Given the description of an element on the screen output the (x, y) to click on. 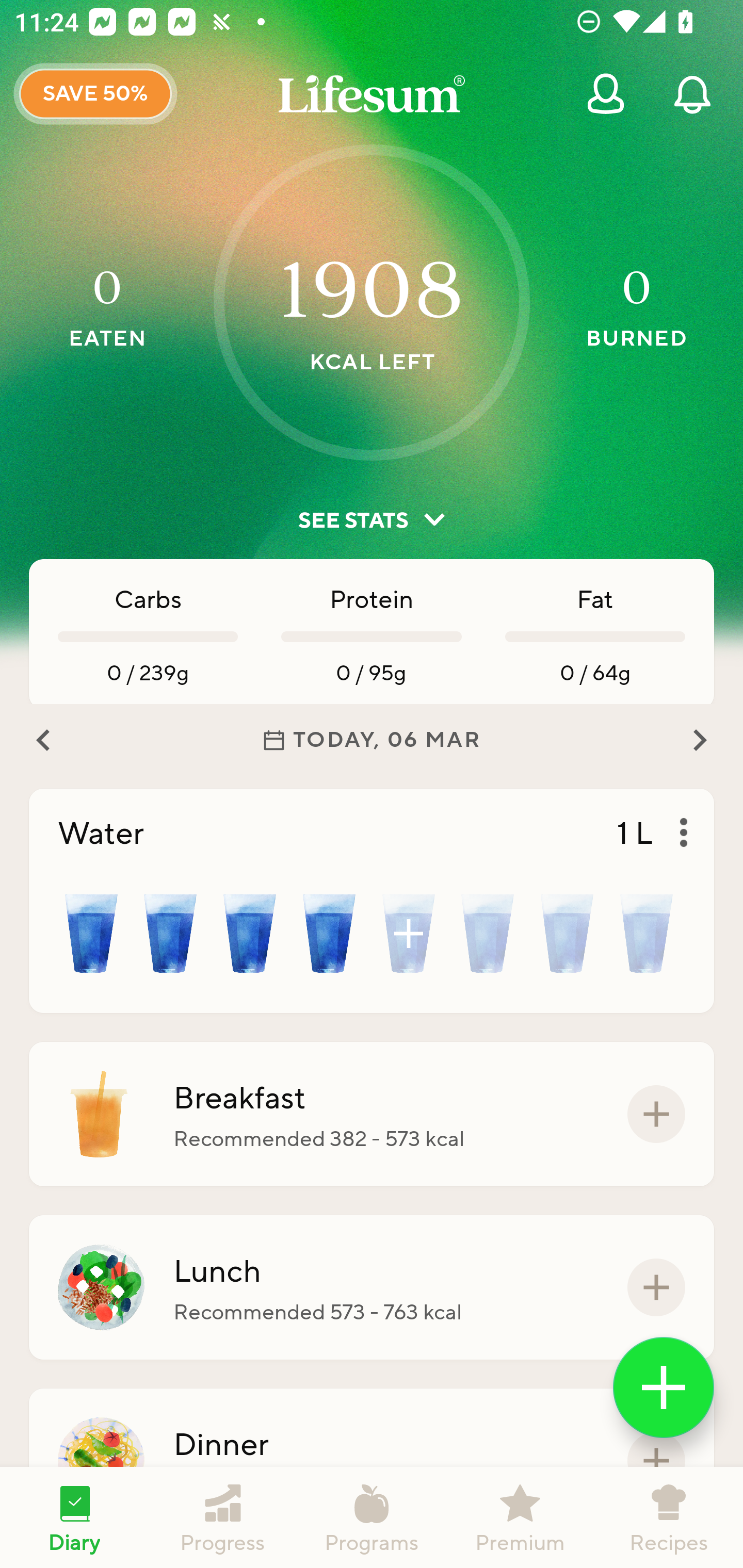
SEE STATS (371, 519)
TODAY, 06 MAR (371, 739)
Breakfast Recommended 382 - 573 kcal (371, 1113)
Lunch Recommended 573 - 763 kcal (371, 1287)
Dinner Recommended 573 - 763 kcal (371, 1461)
Progress (222, 1517)
Programs (371, 1517)
Premium (519, 1517)
Recipes (668, 1517)
